Given the description of an element on the screen output the (x, y) to click on. 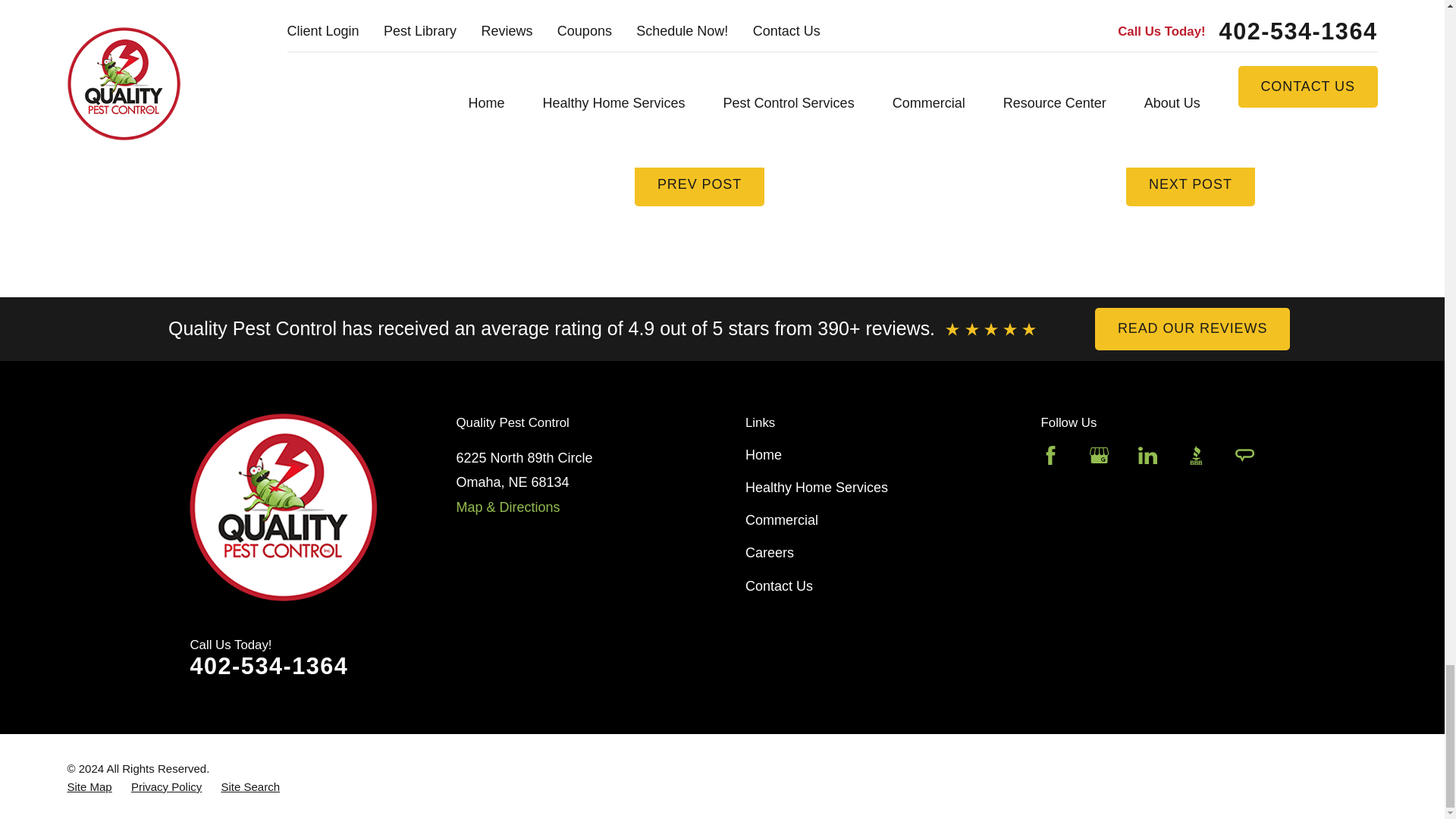
Angie's List (1243, 455)
Facebook (1050, 455)
LinkedIn (1147, 455)
BBB.org (1195, 455)
Google Business Profile (1098, 455)
0 Star Rating (989, 328)
Home (298, 507)
